Given the description of an element on the screen output the (x, y) to click on. 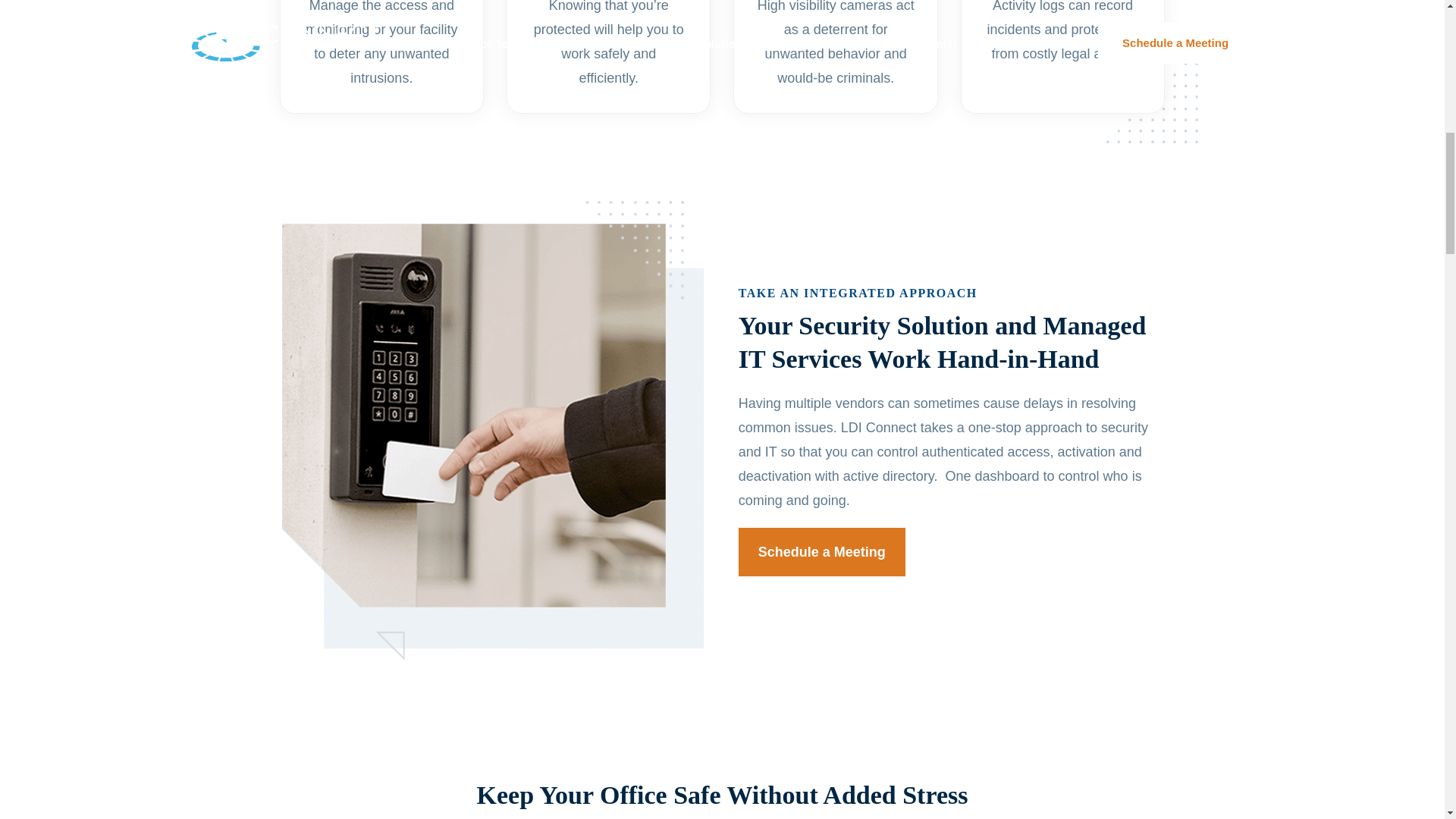
Schedule a Meeting (821, 551)
